Given the description of an element on the screen output the (x, y) to click on. 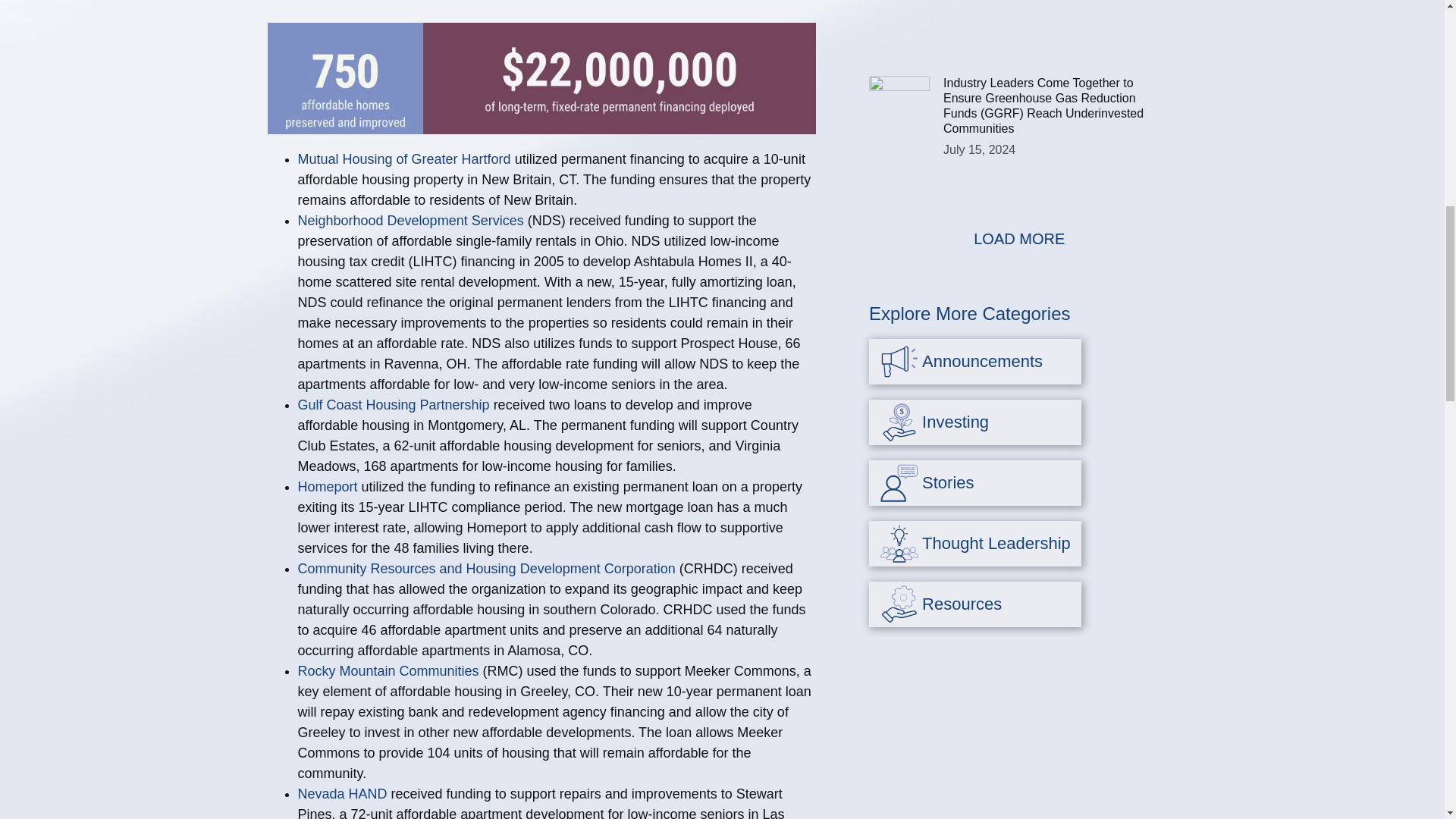
Rocky Mountain Communities (388, 670)
Community Resources and Housing Development Corporation (486, 568)
Gulf Coast Housing Partnership (393, 404)
Neighborhood Development Services (409, 220)
Homeport (326, 486)
Mutual Housing of Greater Hartford (404, 159)
Nevada HAND (342, 793)
